Given the description of an element on the screen output the (x, y) to click on. 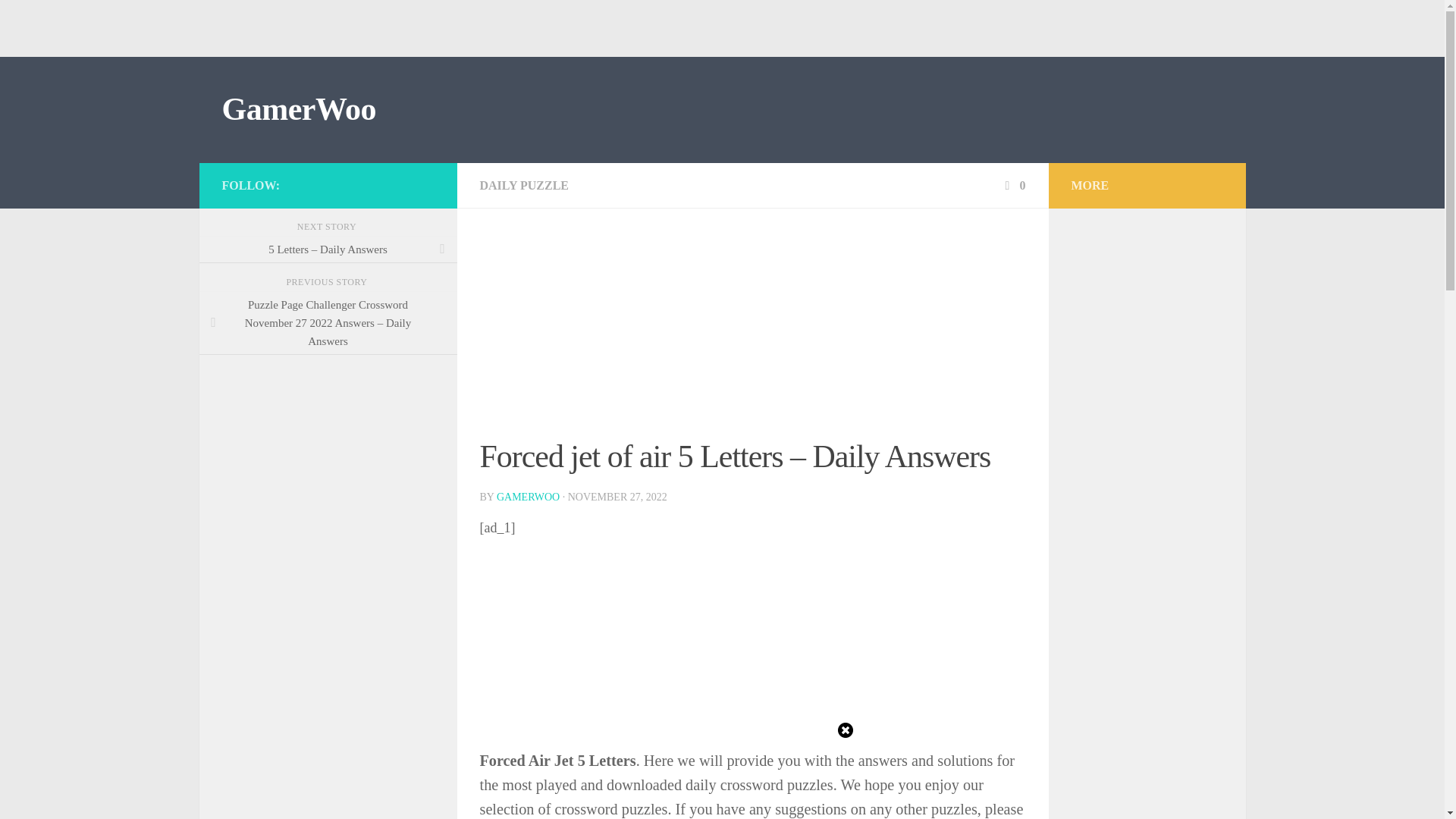
Skip to content (59, 20)
Posts by Gamerwoo (527, 496)
GAMERWOO (527, 496)
0 (1013, 185)
GamerWoo (298, 109)
DAILY PUZZLE (524, 185)
